Given the description of an element on the screen output the (x, y) to click on. 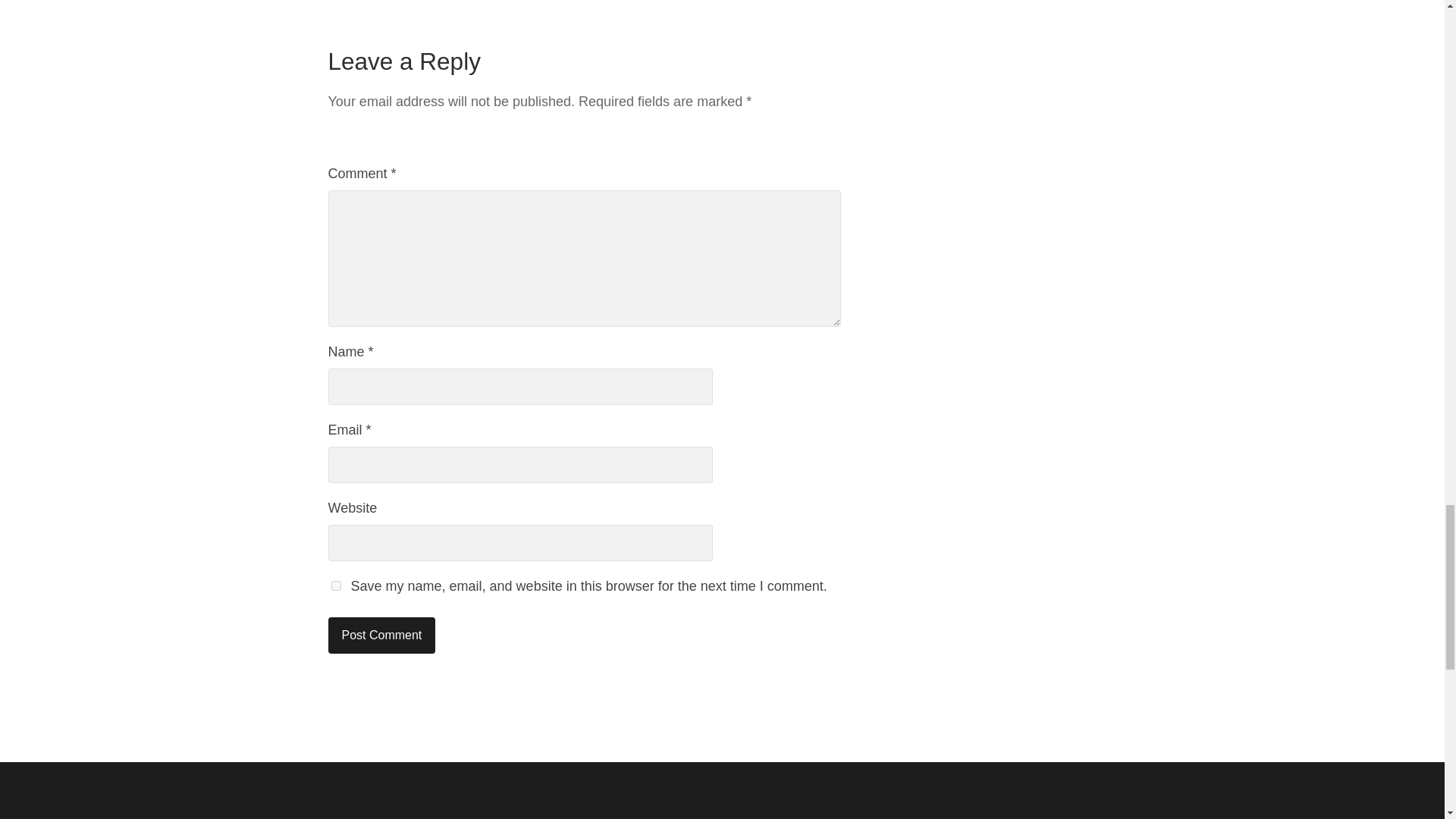
Post Comment (381, 635)
yes (335, 585)
Post Comment (381, 635)
